Given the description of an element on the screen output the (x, y) to click on. 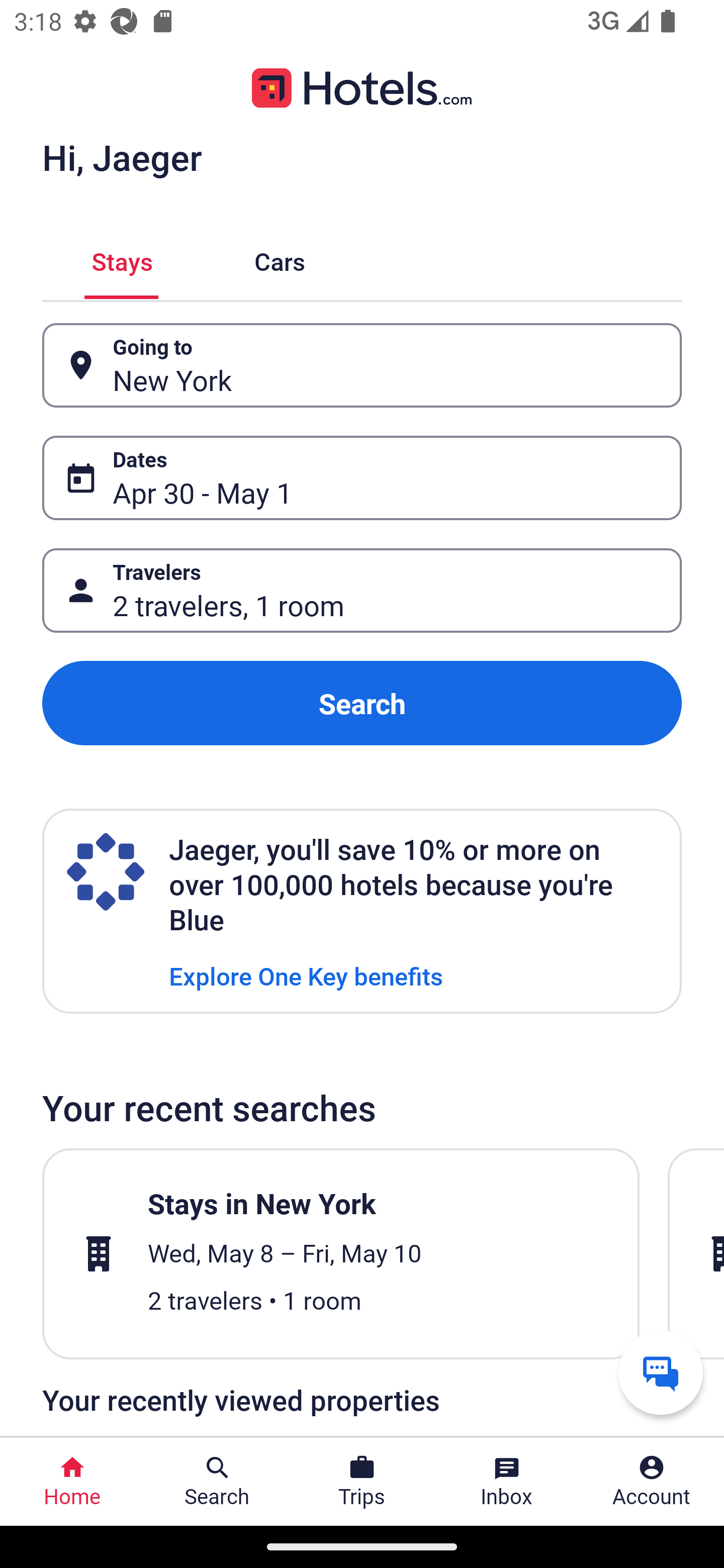
Hi, Jaeger (121, 156)
Cars (279, 259)
Going to Button New York (361, 365)
Dates Button Apr 30 - May 1 (361, 477)
Travelers Button 2 travelers, 1 room (361, 590)
Search (361, 702)
Get help from a virtual agent (660, 1371)
Search Search Button (216, 1481)
Trips Trips Button (361, 1481)
Inbox Inbox Button (506, 1481)
Account Profile. Button (651, 1481)
